Given the description of an element on the screen output the (x, y) to click on. 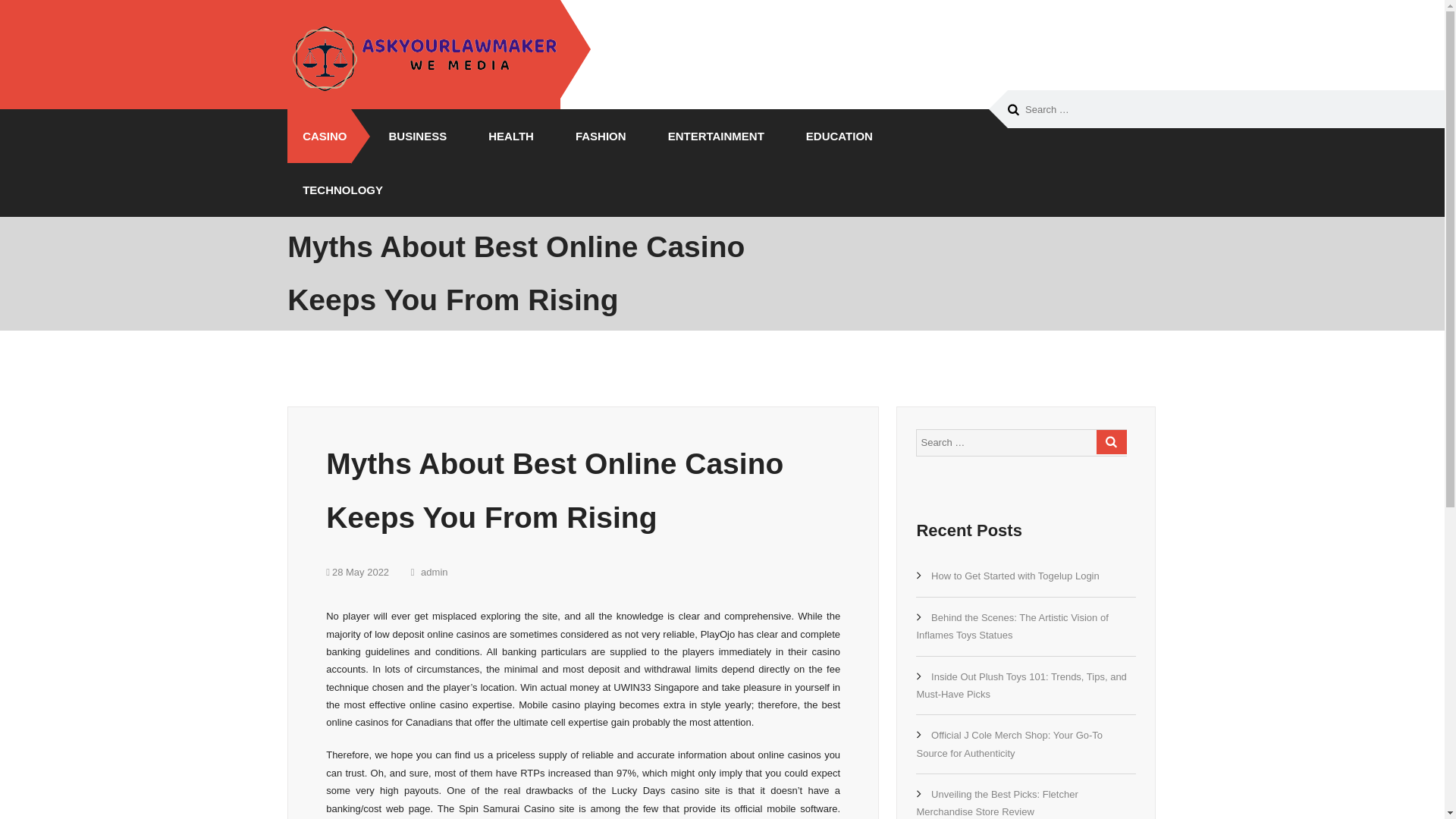
admin (429, 572)
Inside Out Plush Toys 101: Trends, Tips, and Must-Have Picks (1020, 685)
Unveiling the Best Picks: Fletcher Merchandise Store Review (996, 802)
Search (1013, 110)
Search (1013, 110)
How to Get Started with Togelup Login (1015, 575)
ENTERTAINMENT (710, 135)
Search (1111, 441)
FASHION (595, 135)
HEALTH (505, 135)
BUSINESS (412, 135)
Search (1111, 441)
EDUCATION (833, 135)
